Given the description of an element on the screen output the (x, y) to click on. 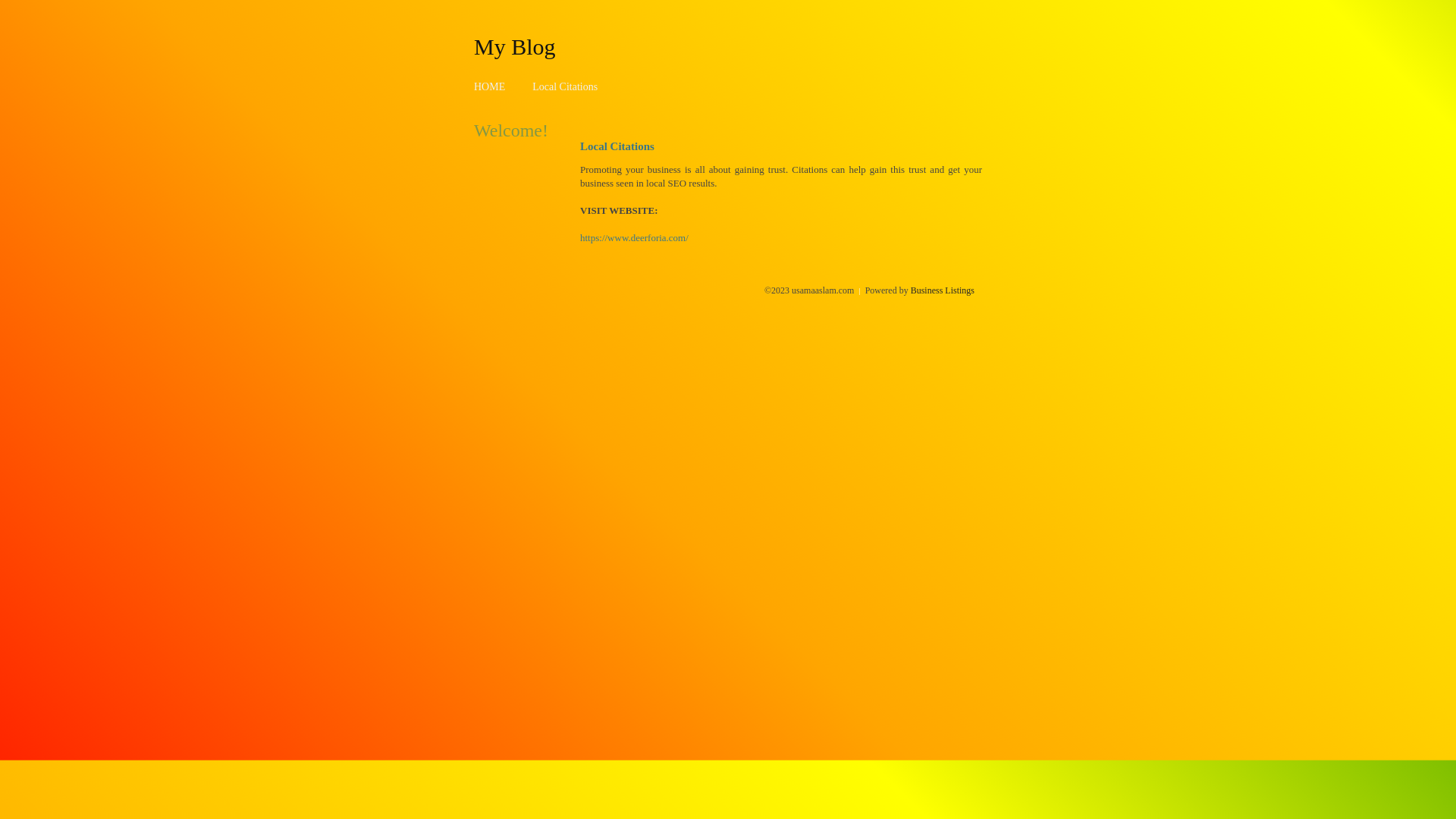
HOME Element type: text (489, 86)
Local Citations Element type: text (564, 86)
My Blog Element type: text (514, 46)
https://www.deerforia.com/ Element type: text (634, 237)
Business Listings Element type: text (942, 290)
